Given the description of an element on the screen output the (x, y) to click on. 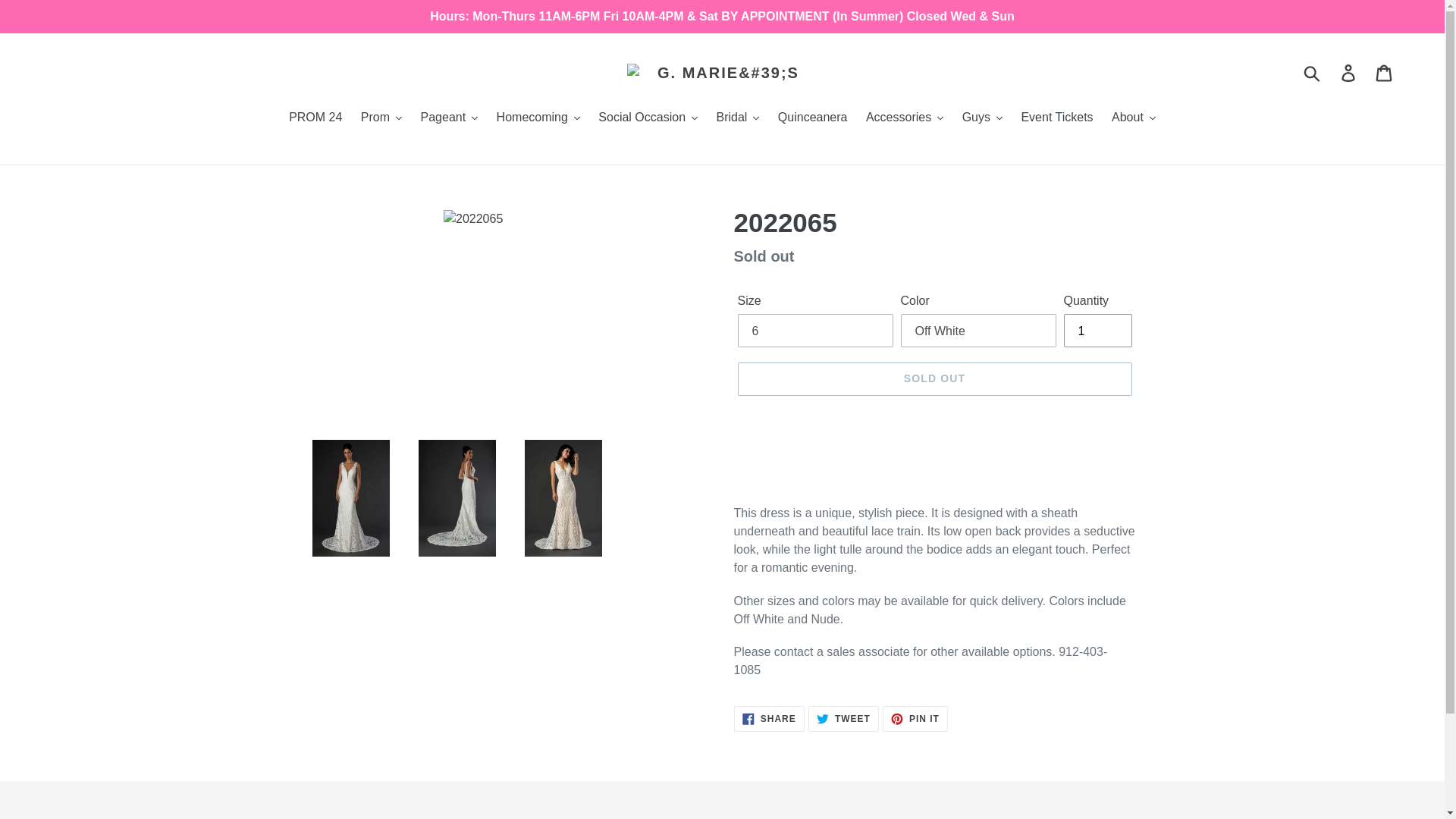
Submit (1313, 72)
Log in (1349, 72)
1 (1096, 330)
Cart (1385, 72)
